Given the description of an element on the screen output the (x, y) to click on. 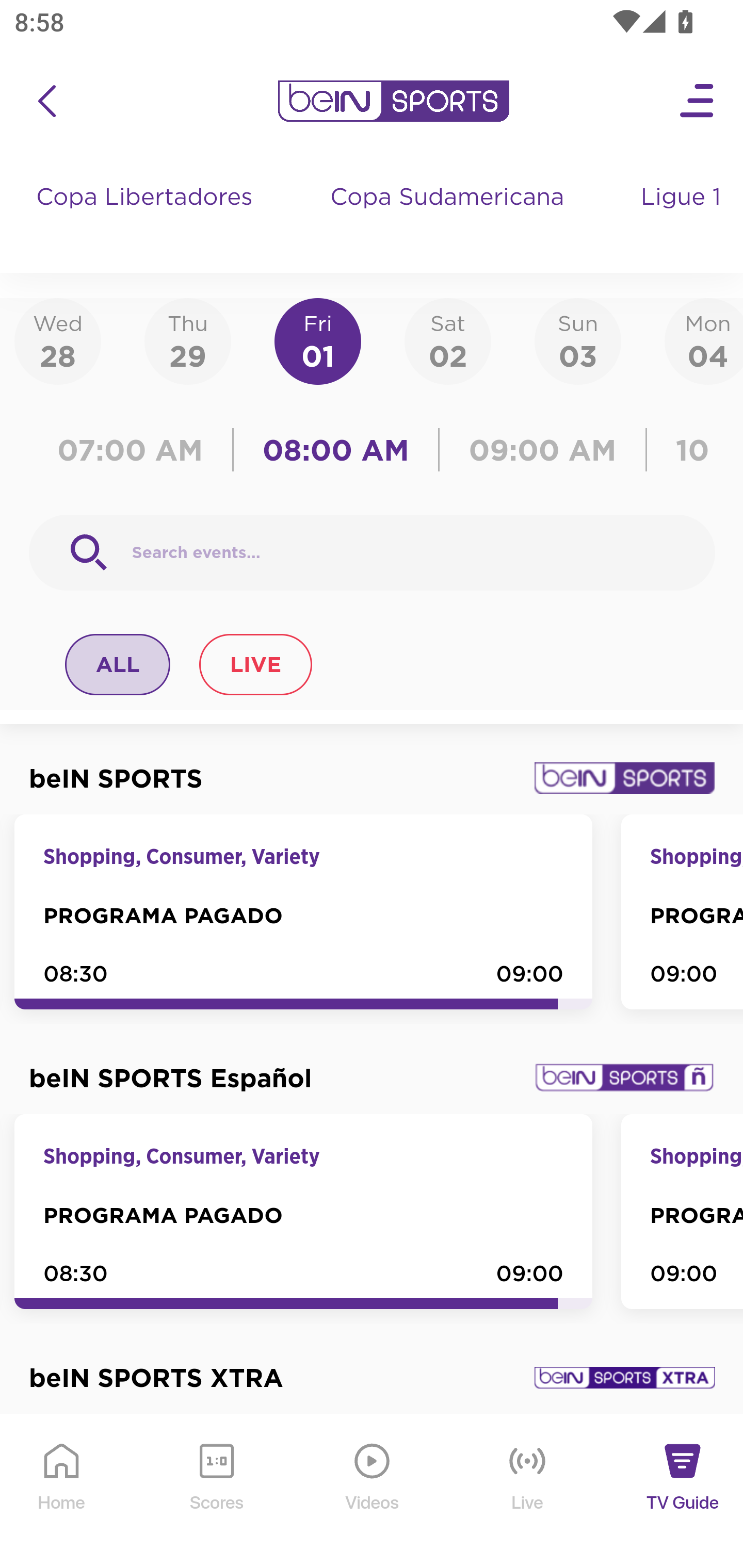
en-us?platform=mobile_android bein logo (392, 101)
icon back (46, 101)
Open Menu Icon (697, 101)
Copa Libertadores (146, 216)
Copa Sudamericana (448, 216)
Ligue 1 (682, 216)
Wed28 (58, 340)
Thu29 (187, 340)
Fri01 (318, 340)
Sat02 (447, 340)
Sun03 (578, 340)
Mon04 (703, 340)
07:00 AM (135, 449)
08:00 AM (336, 449)
09:00 AM (542, 449)
ALL (118, 663)
LIVE (255, 663)
Home Home Icon Home (61, 1491)
Scores Scores Icon Scores (216, 1491)
Videos Videos Icon Videos (372, 1491)
TV Guide TV Guide Icon TV Guide (682, 1491)
